Given the description of an element on the screen output the (x, y) to click on. 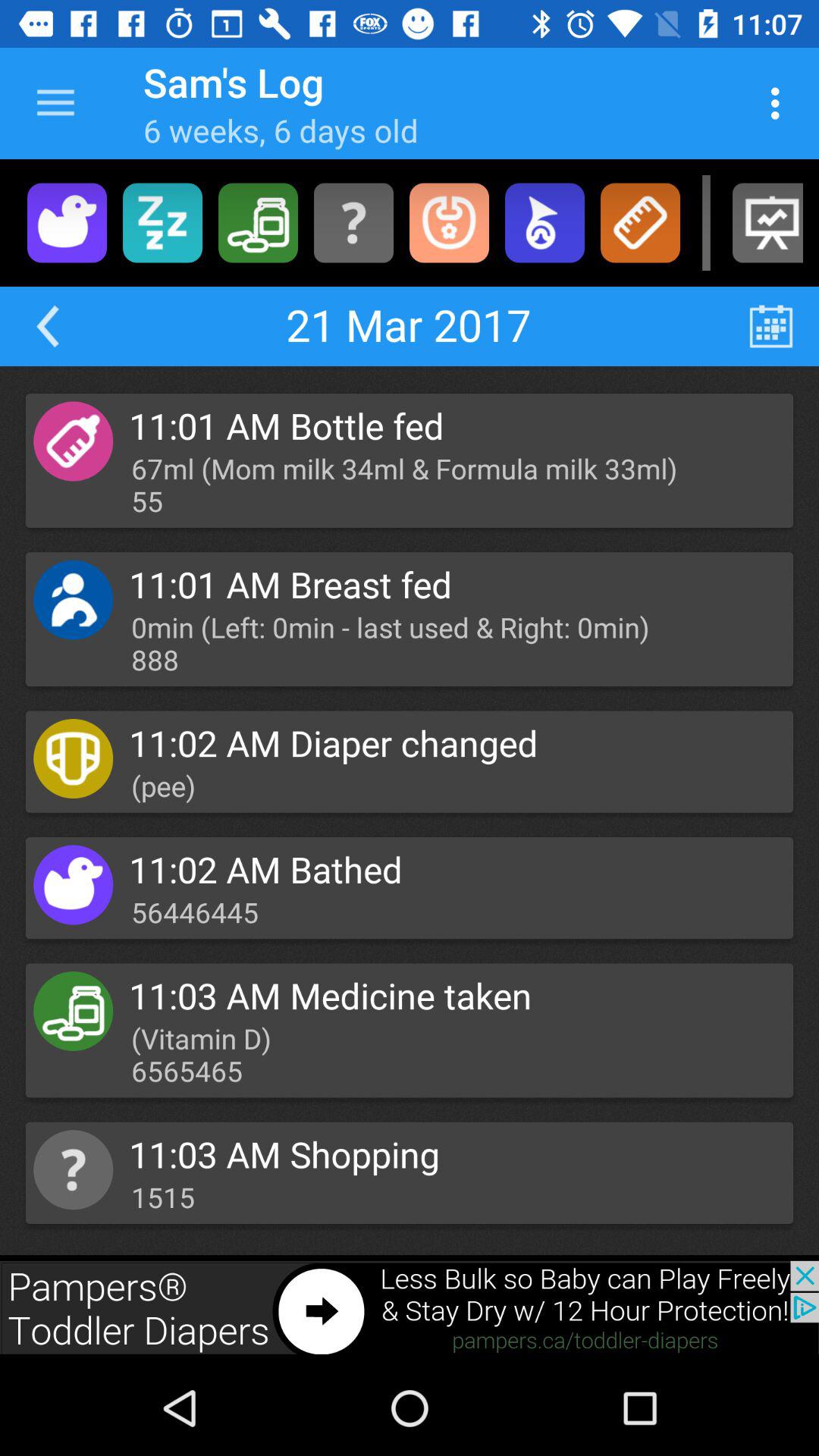
eating (449, 222)
